Given the description of an element on the screen output the (x, y) to click on. 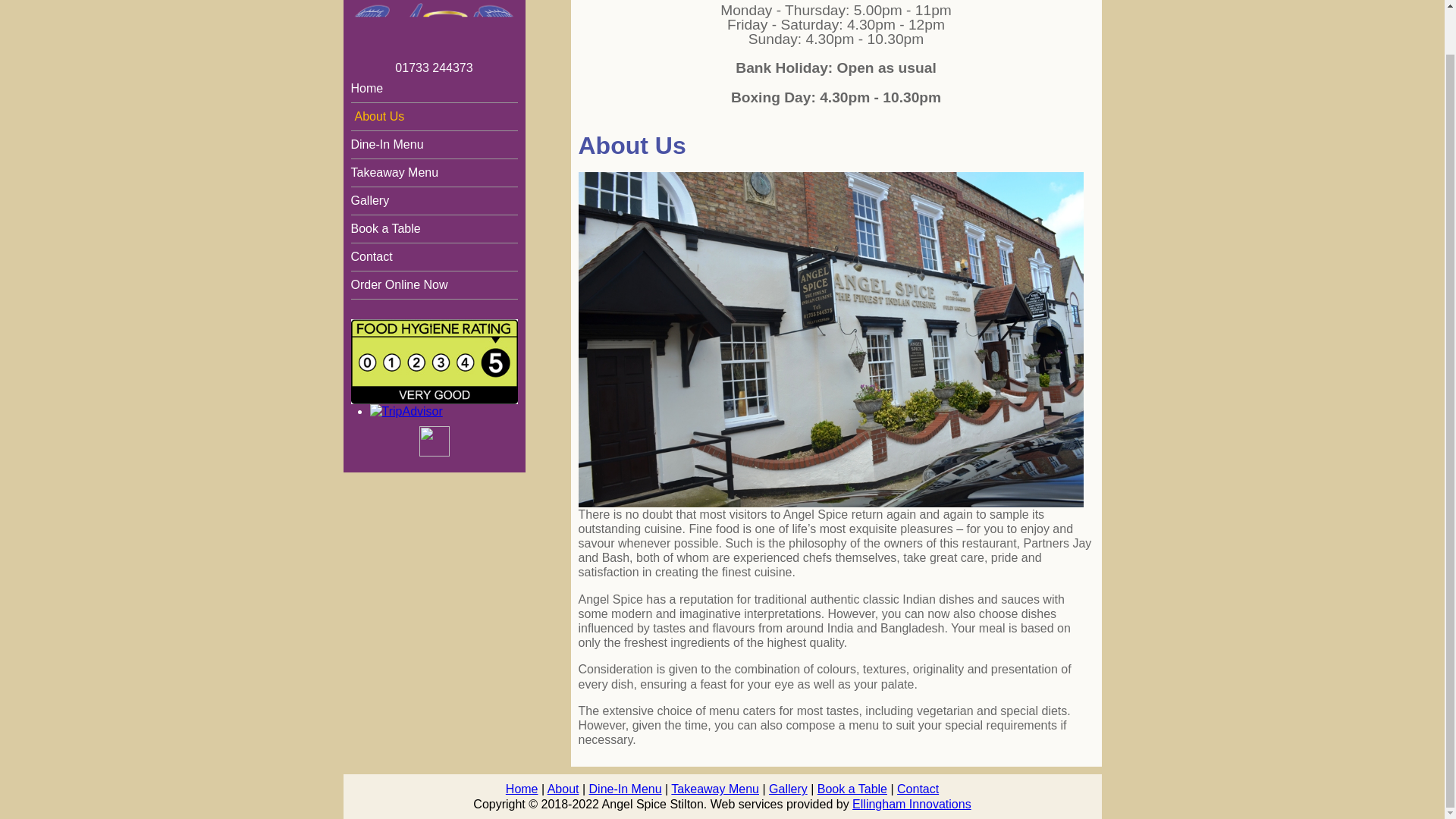
Gallery (788, 788)
Order Online Now (433, 284)
Gallery (433, 200)
Book a Table (433, 229)
Contact (917, 788)
Home (521, 788)
Takeaway Menu (714, 788)
About (563, 788)
About Us (433, 116)
Home (433, 88)
Ellingham Innovations (911, 803)
Takeaway Menu (433, 172)
Contact (433, 256)
Angel Spice - Stilton Peterborough Cambridgeshire (433, 43)
Dine-In Menu (625, 788)
